Given the description of an element on the screen output the (x, y) to click on. 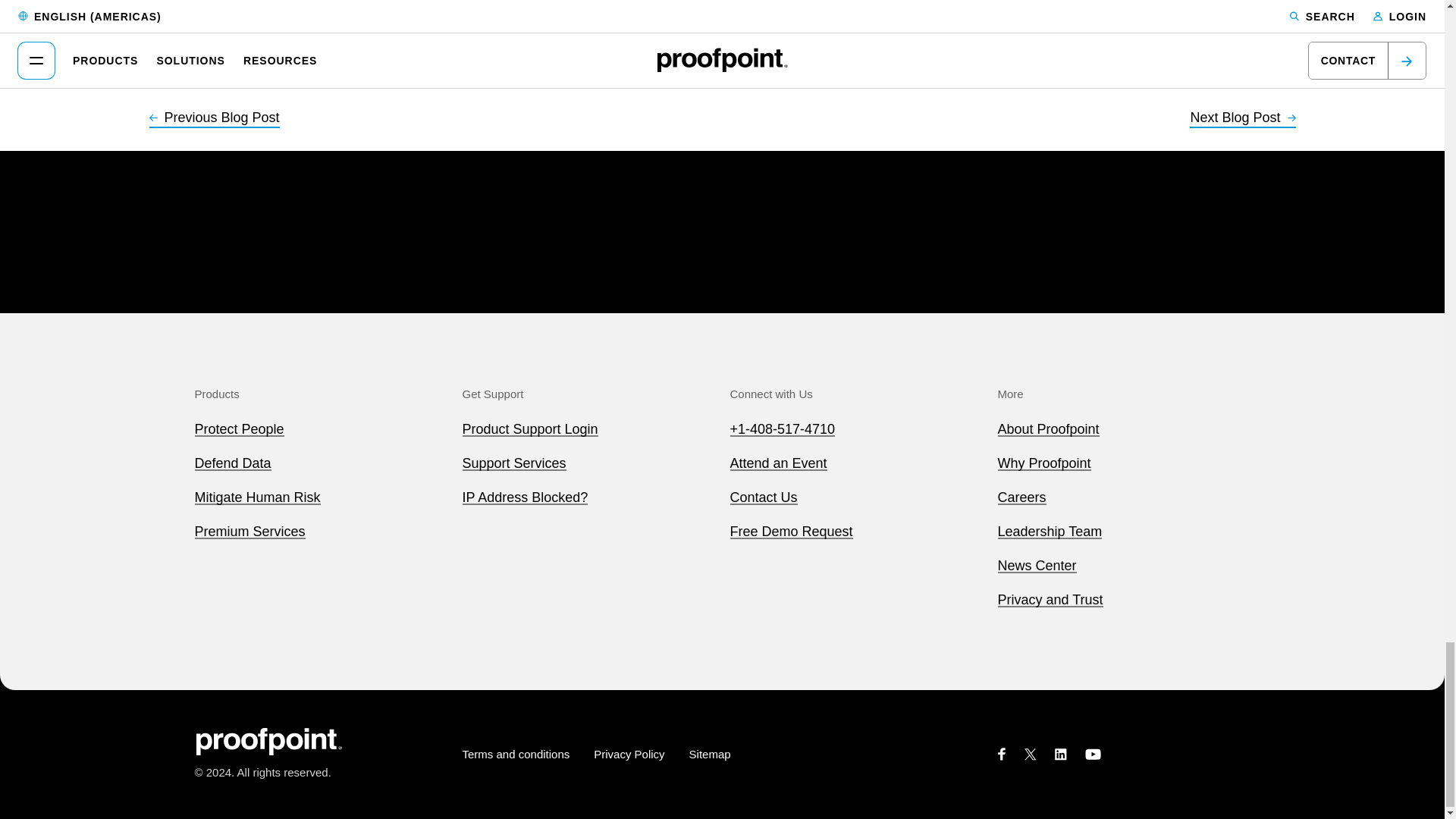
Phishing Awareness Kit (280, 18)
